Given the description of an element on the screen output the (x, y) to click on. 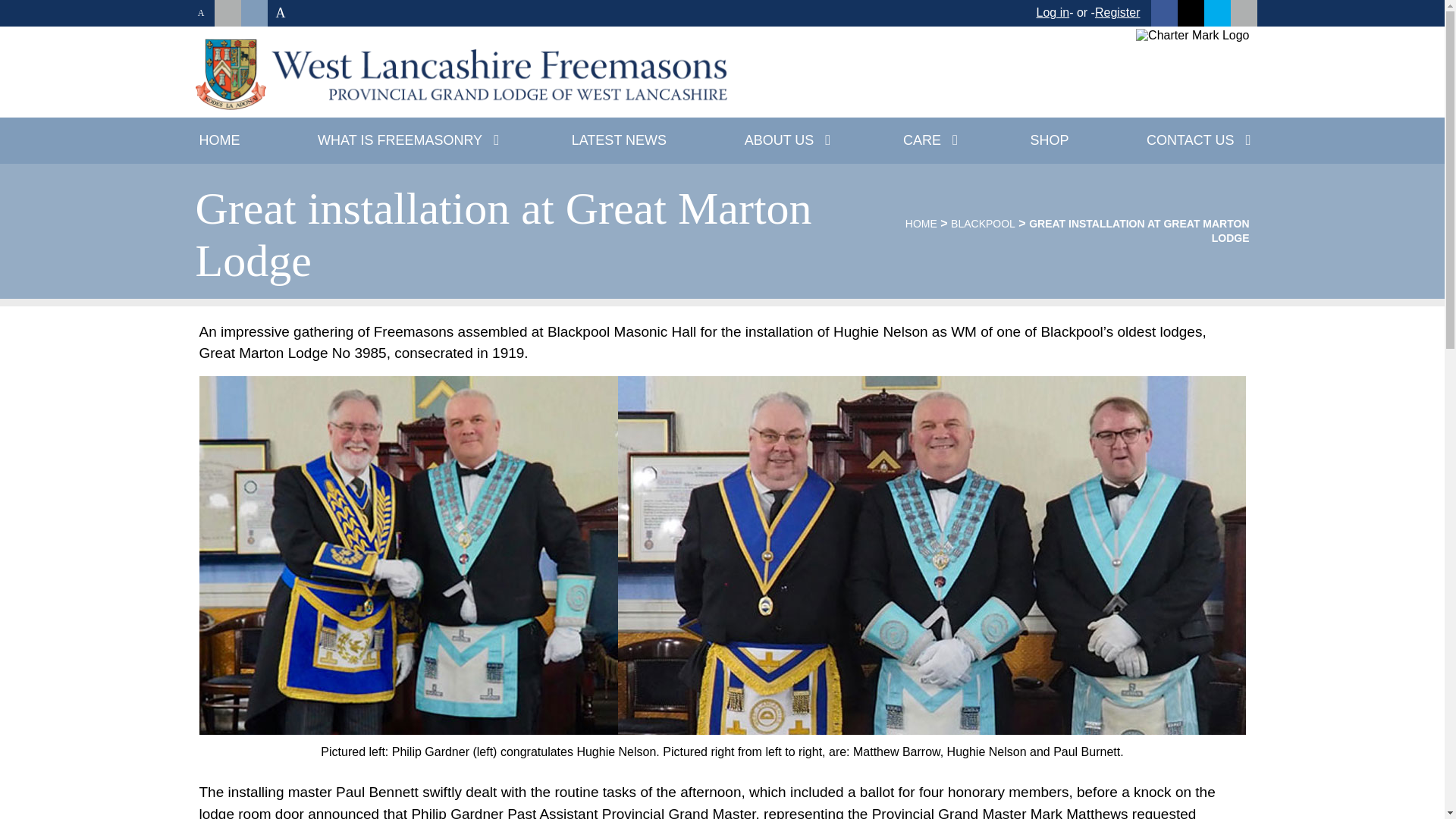
HOME (921, 223)
CONTACT US (1195, 140)
CARE (927, 140)
Register (1117, 12)
WHAT IS FREEMASONRY (405, 140)
ABOUT US (785, 140)
SHOP (1048, 140)
BLACKPOOL (982, 223)
HOME (219, 140)
LATEST NEWS (619, 140)
